Given the description of an element on the screen output the (x, y) to click on. 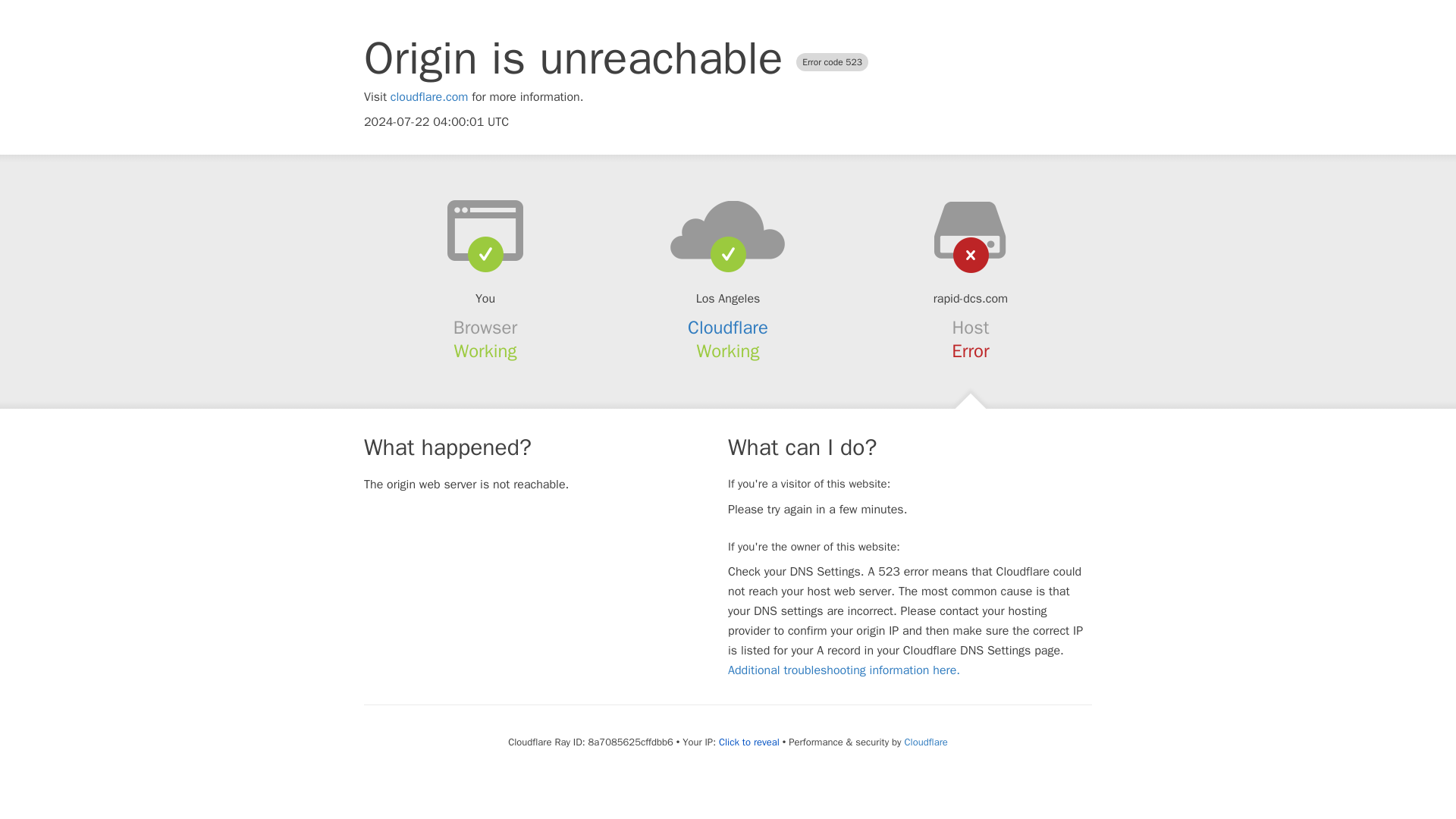
Click to reveal (748, 742)
Cloudflare (925, 741)
Cloudflare (727, 327)
cloudflare.com (429, 96)
Additional troubleshooting information here. (843, 670)
